Given the description of an element on the screen output the (x, y) to click on. 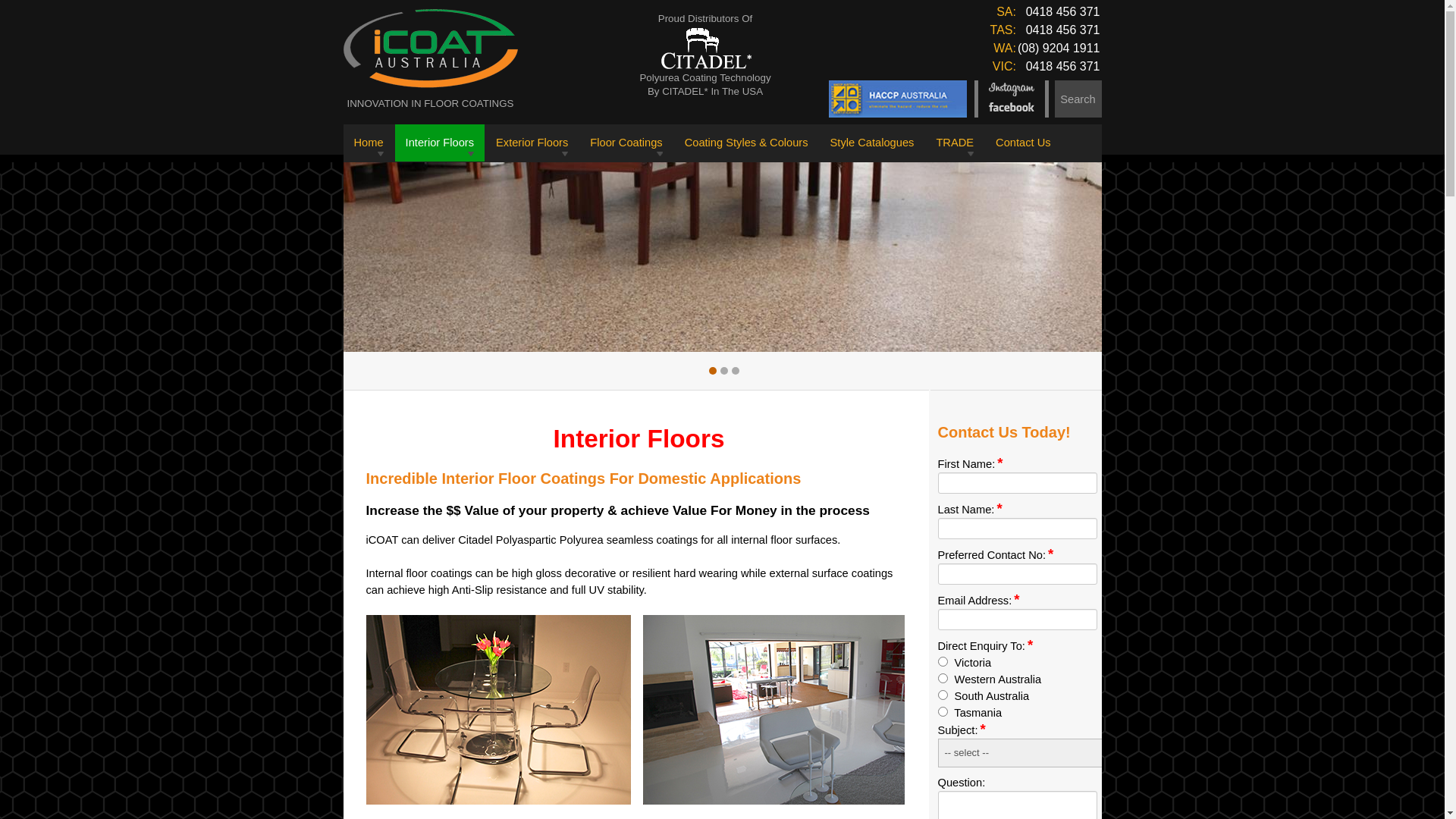
Exterior Floors Element type: text (531, 142)
Style Catalogues Element type: text (872, 142)
Search Element type: text (1077, 98)
Interior Floors Element type: text (439, 142)
INNOVATION IN FLOOR COATINGS Element type: text (430, 103)
Coating Styles & Colours Element type: text (746, 142)
Floor Coatings Element type: text (625, 142)
TRADE Element type: text (954, 142)
Home Element type: text (367, 142)
Proud Distributors Of Element type: text (704, 18)
Contact Us Element type: text (1023, 142)
Polyurea Coating Technology
By CITADEL* In The USA Element type: text (704, 84)
